Given the description of an element on the screen output the (x, y) to click on. 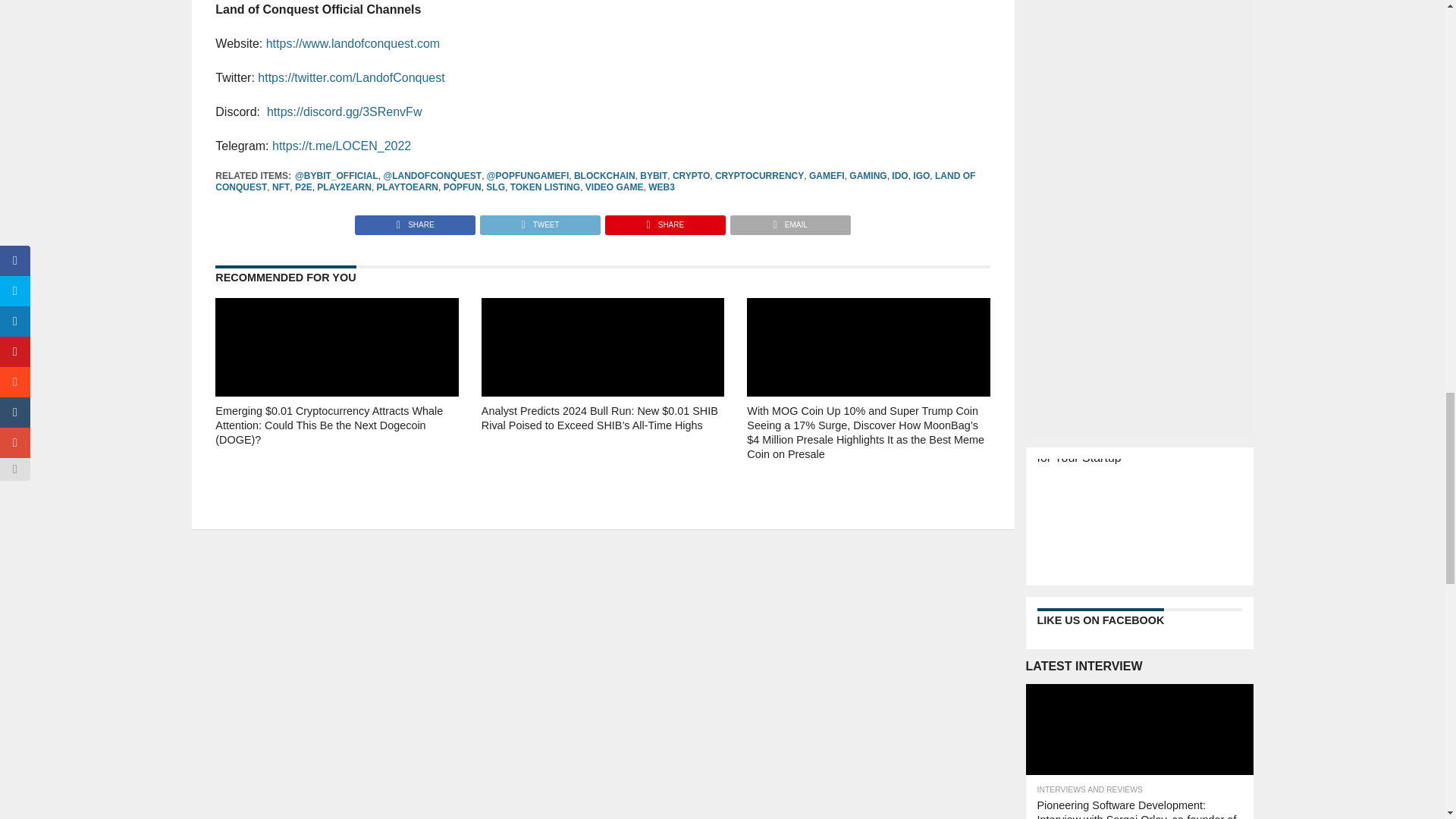
Pin This Post (664, 220)
Share on Facebook (415, 220)
Tweet This Post (539, 220)
